Given the description of an element on the screen output the (x, y) to click on. 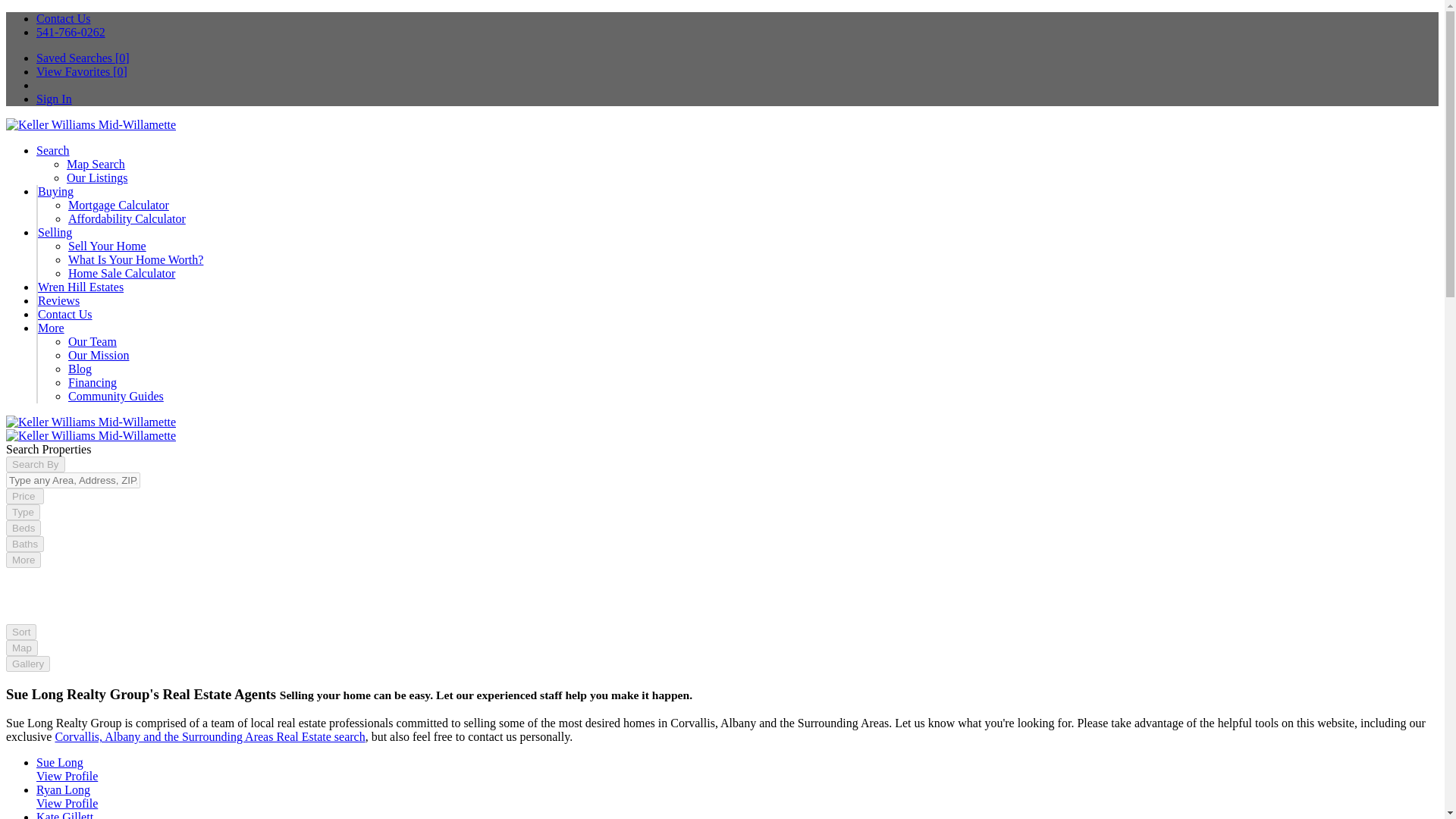
Beds (22, 528)
Blog (79, 368)
Search By (35, 464)
Contact Us (65, 314)
Contact Us (63, 18)
See Sue Long's Profile (66, 775)
Our Team (92, 341)
More (22, 560)
Search (52, 150)
Sell Your Home (107, 245)
Price  (24, 496)
More (50, 327)
Home Sale Calculator (121, 273)
Gallery View (27, 662)
Baths (24, 544)
